Given the description of an element on the screen output the (x, y) to click on. 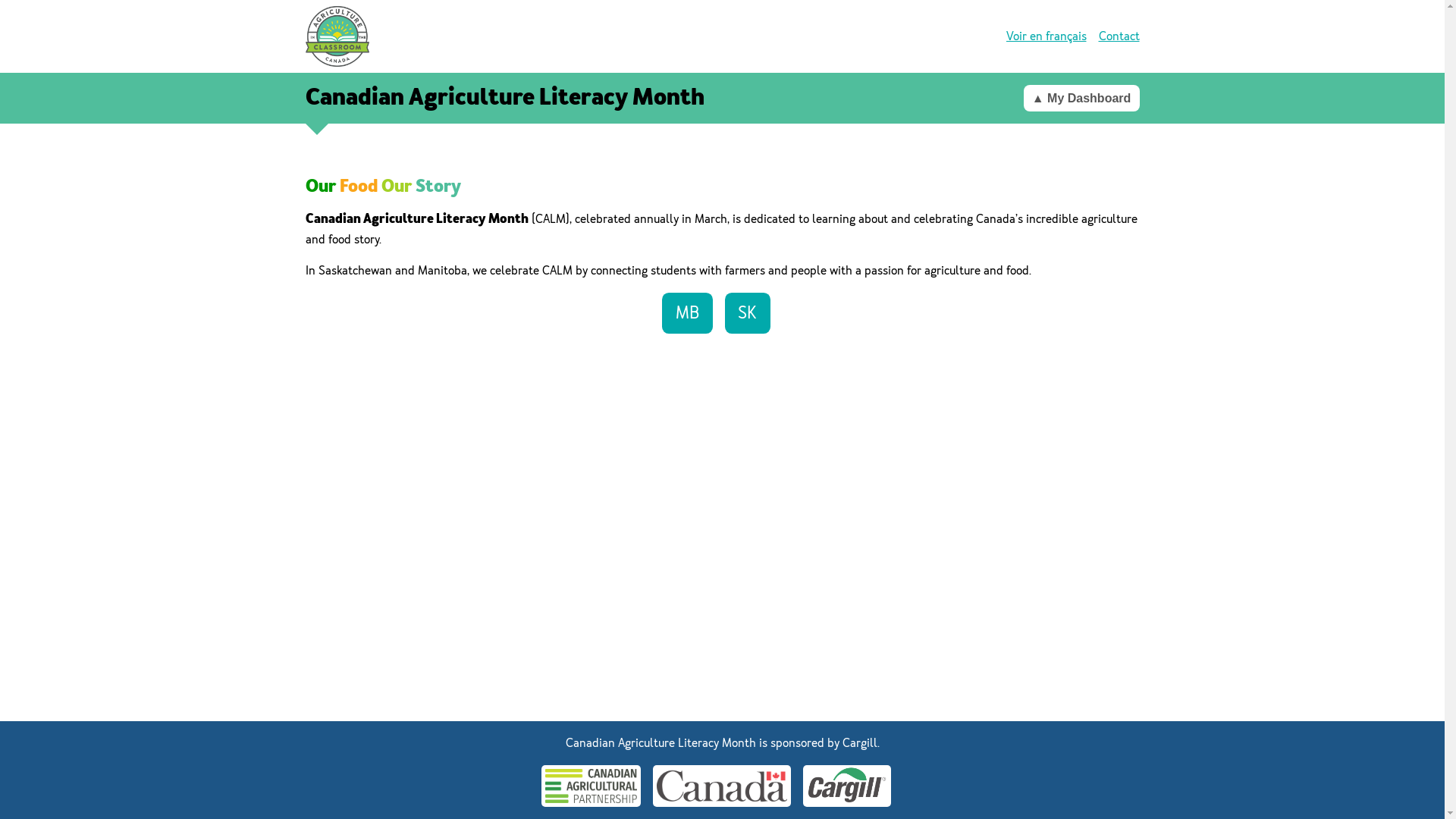
SK Element type: text (747, 312)
MB Element type: text (687, 312)
Contact Element type: text (1118, 36)
